Given the description of an element on the screen output the (x, y) to click on. 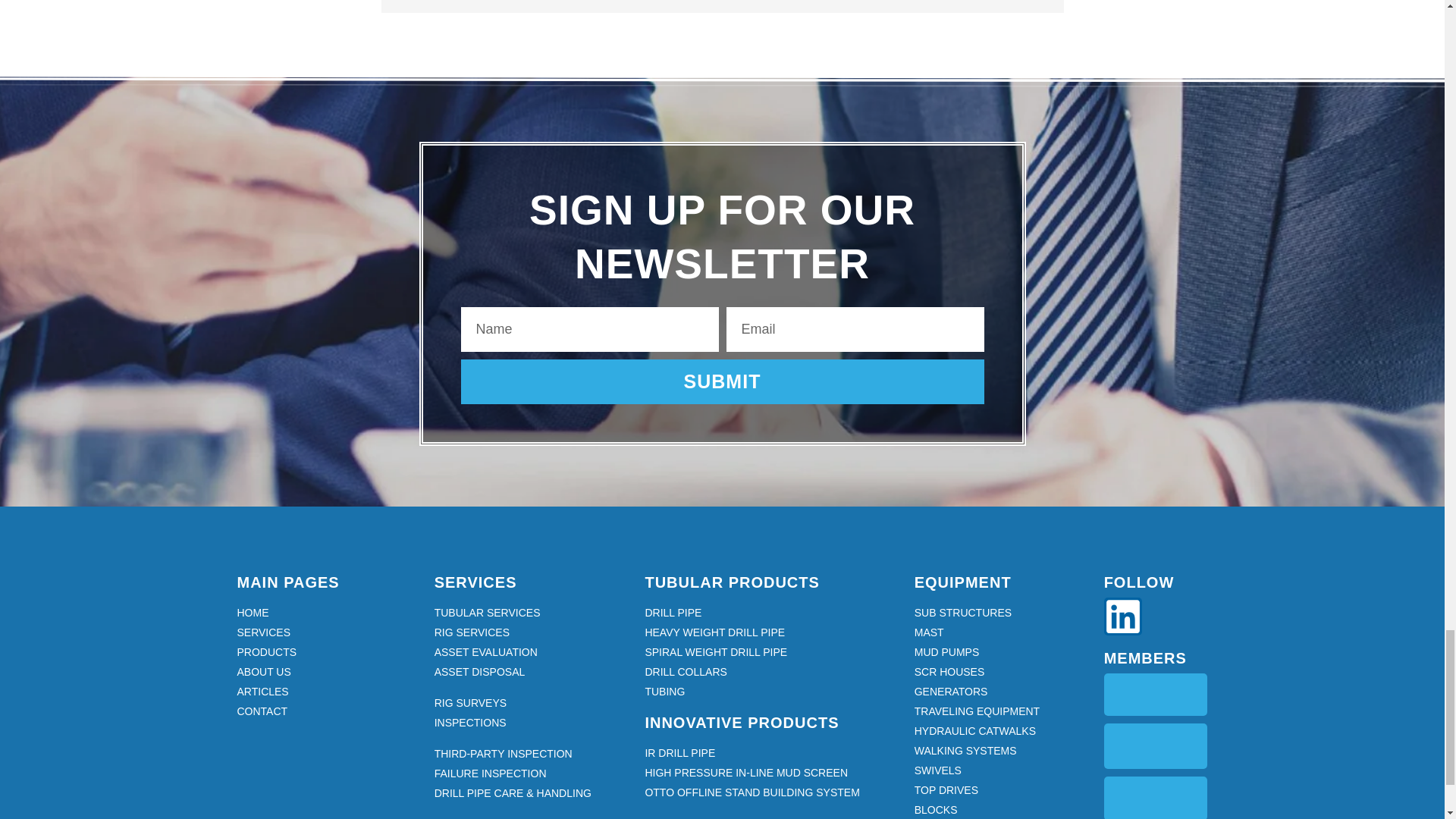
ARTICLES (327, 691)
DRILL PIPE (771, 612)
DRILL COLLARS (771, 672)
MAST (1001, 632)
SUBMIT (722, 381)
HOME (327, 612)
SPIRAL WEIGHT DRILL PIPE (771, 652)
TUBULAR PRODUCTS (731, 582)
ABOUT US (327, 672)
SUB STRUCTURES (1001, 612)
